Given the description of an element on the screen output the (x, y) to click on. 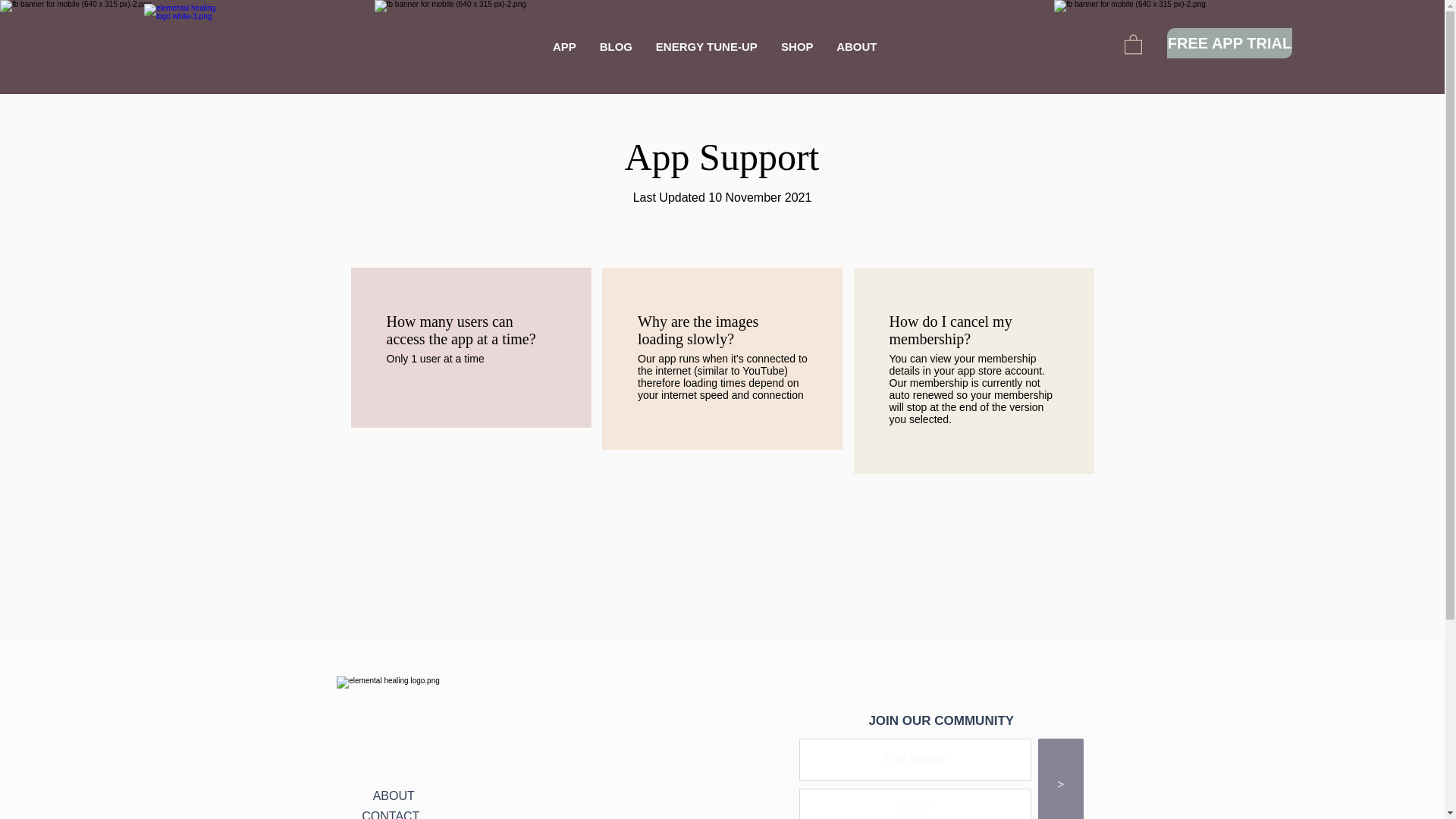
SHOP (796, 46)
APP (564, 46)
ABOUT (856, 46)
BLOG (615, 46)
ABOUT (393, 795)
FREE APP TRIAL (1229, 42)
CONTACT (390, 814)
ENERGY TUNE-UP (705, 46)
